Given the description of an element on the screen output the (x, y) to click on. 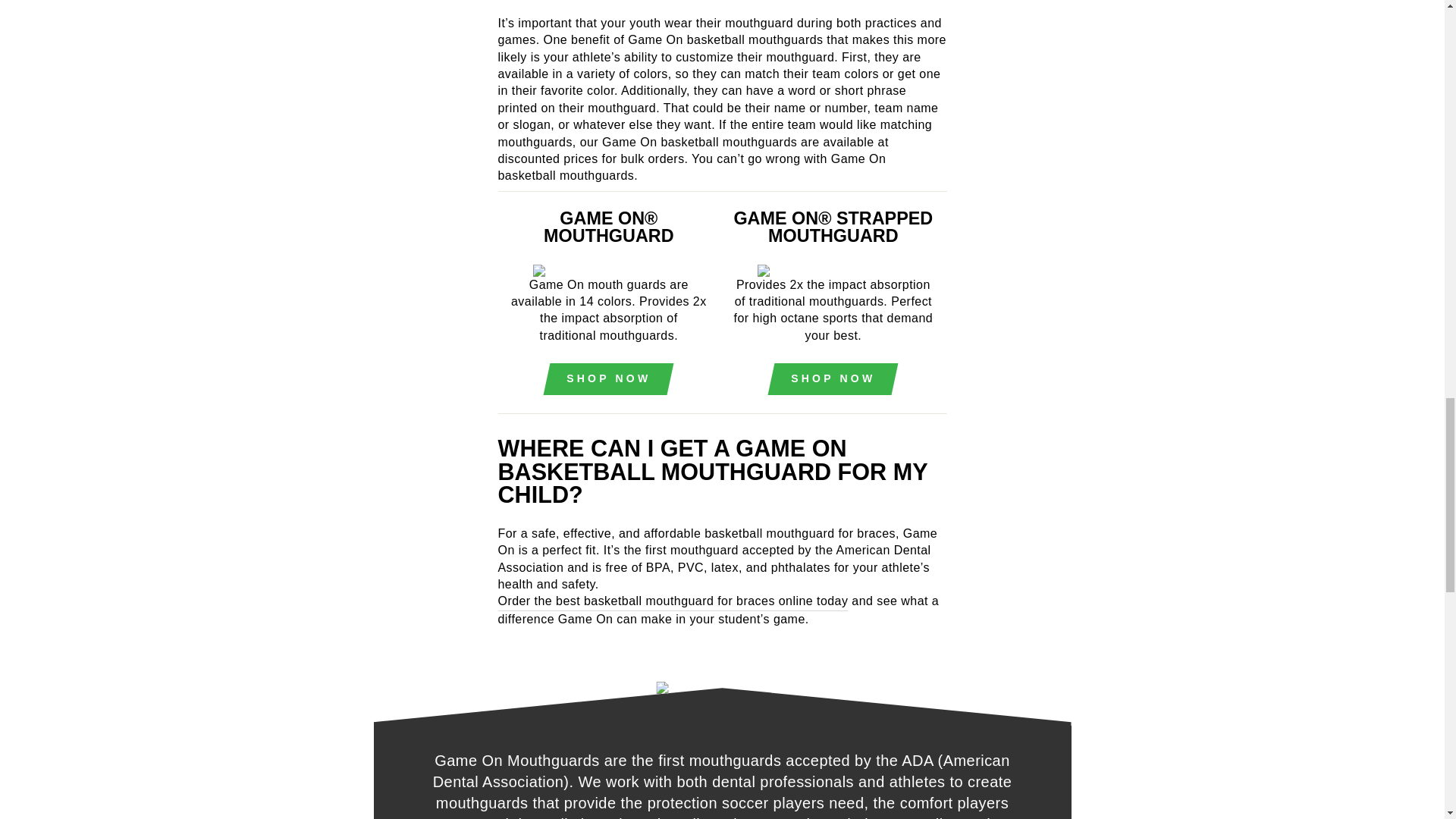
SHOP NOW (832, 378)
SHOP NOW (608, 378)
Order the best basketball mouthguard for braces online today (672, 601)
